Given the description of an element on the screen output the (x, y) to click on. 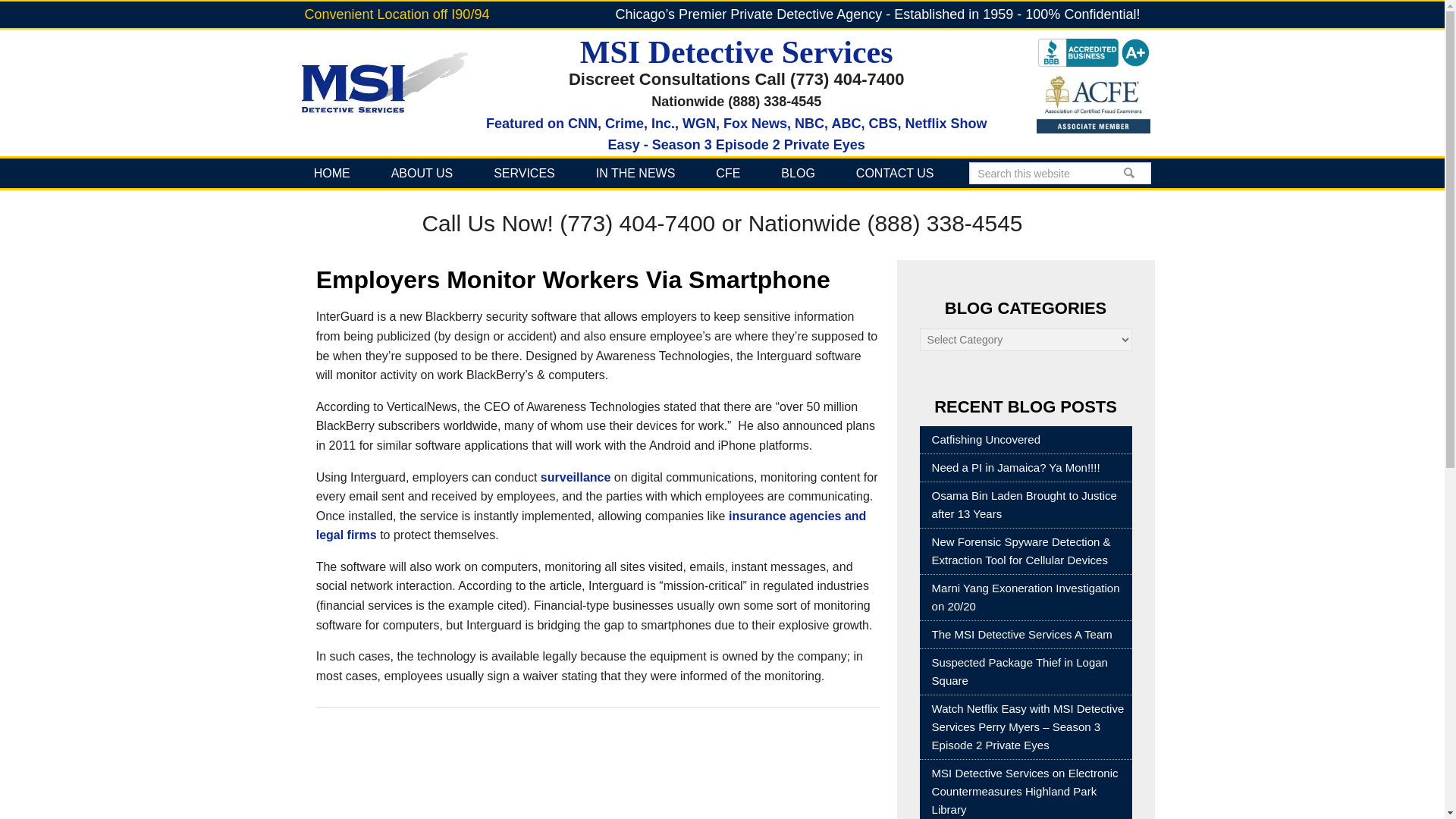
IN THE NEWS (635, 173)
CONTACT US (895, 173)
Search (721, 173)
CFE (797, 173)
HOME (727, 173)
SERVICES (332, 173)
Search (524, 173)
